Given the description of an element on the screen output the (x, y) to click on. 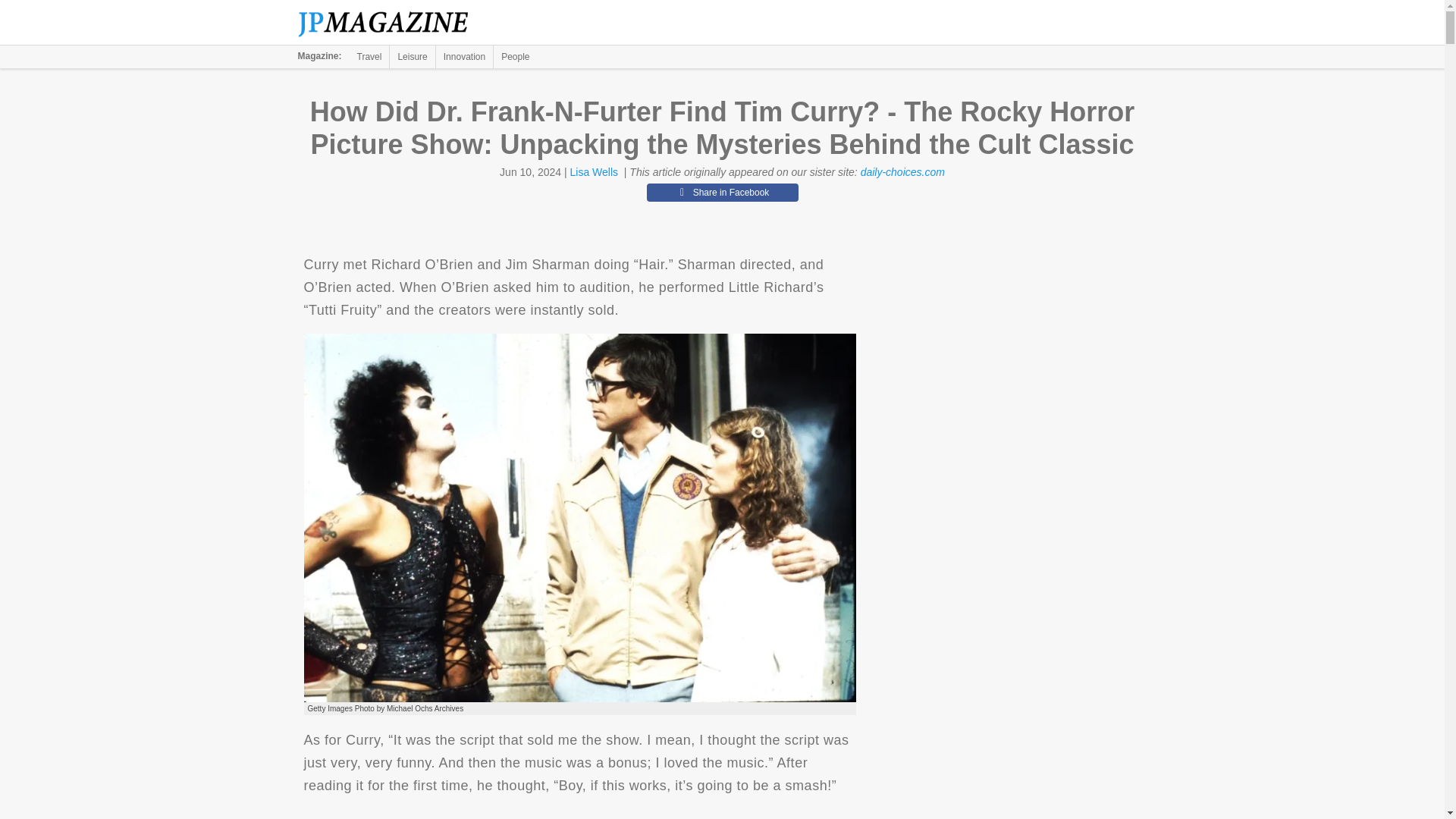
Lisa Wells (594, 172)
Innovation (464, 56)
Share in Facebook (721, 192)
People (515, 56)
daily-choices.com (902, 172)
The Jerusalem Post Magazine (391, 22)
Leisure (411, 56)
Travel (369, 56)
